Given the description of an element on the screen output the (x, y) to click on. 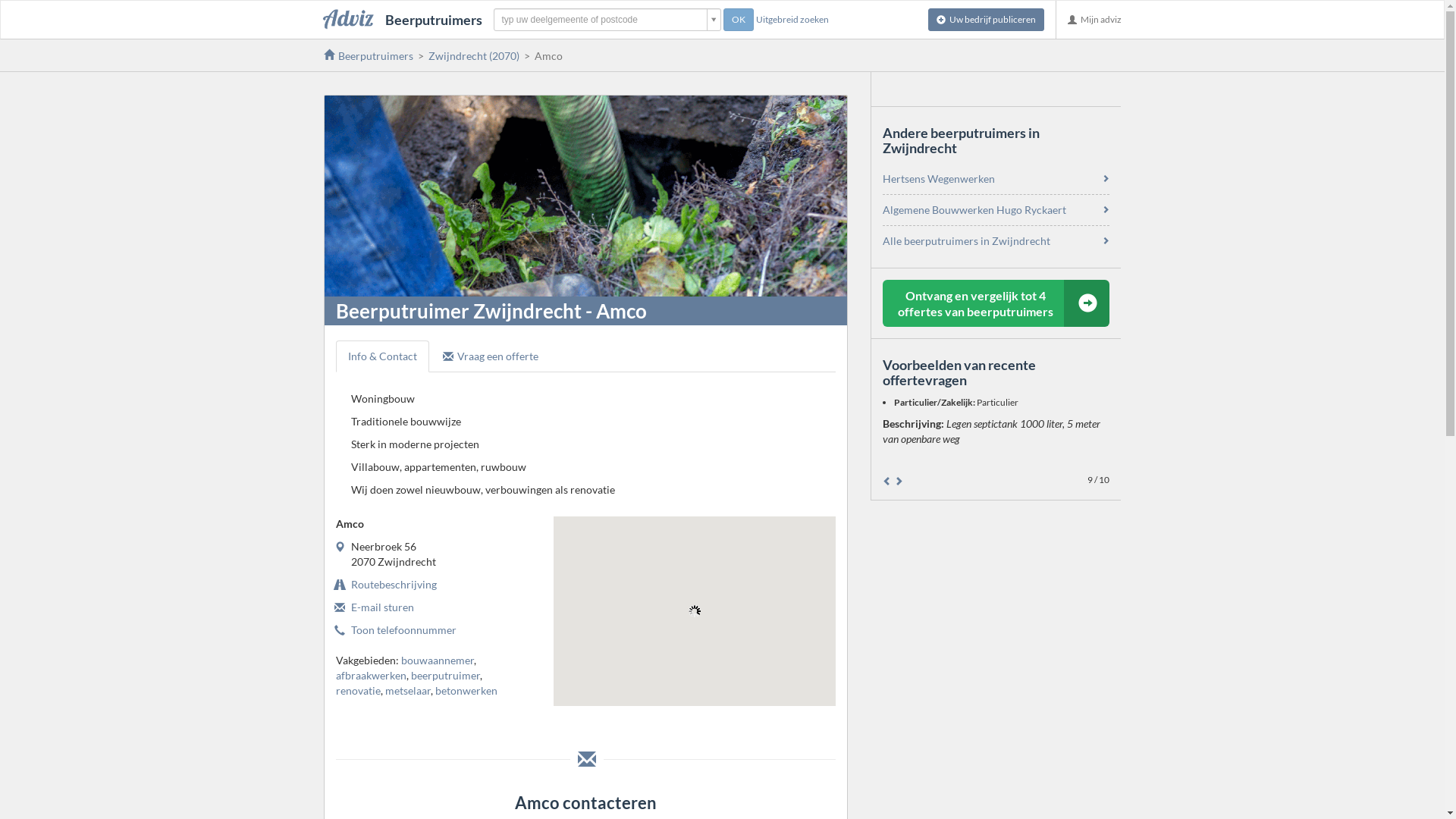
renovatie Element type: text (357, 690)
Zwijndrecht (2070) Element type: text (472, 55)
Vraag een offerte Element type: text (490, 356)
Toon telefoonnummer Element type: text (402, 629)
betonwerken Element type: text (466, 690)
Beerputruimers Element type: text (367, 55)
Info & Contact Element type: text (381, 356)
typ uw deelgemeente of postcode Element type: text (606, 19)
Uw bedrijf publiceren Element type: text (986, 19)
Ontvang en vergelijk tot 4 offertes van beerputruimers Element type: text (996, 303)
afbraakwerken Element type: text (370, 674)
Hertsens Wegenwerken Element type: text (938, 178)
Mijn adviz Element type: text (1093, 19)
metselaar Element type: text (407, 690)
E-mail sturen Element type: text (381, 606)
Uitgebreid zoeken Element type: text (791, 19)
bouwaannemer Element type: text (436, 659)
Routebeschrijving Element type: text (393, 583)
Alle beerputruimers in Zwijndrecht Element type: text (966, 240)
Beerputruimers Element type: text (402, 19)
Algemene Bouwwerken Hugo Ryckaert Element type: text (974, 209)
OK Element type: text (738, 19)
beerputruimer Element type: text (445, 674)
